Given the description of an element on the screen output the (x, y) to click on. 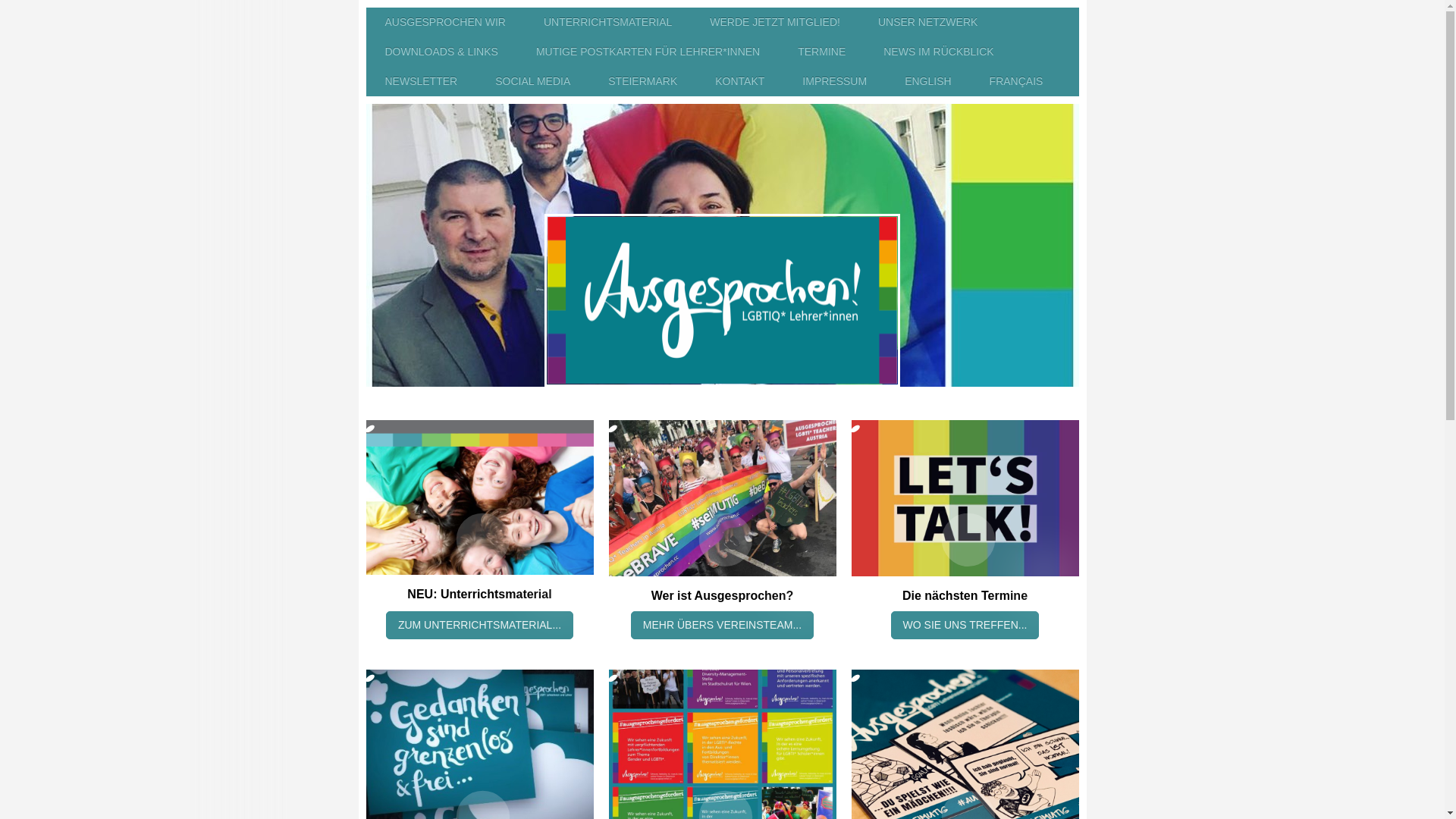
STEIERMARK Element type: text (642, 81)
UNTERRICHTSMATERIAL Element type: text (607, 22)
WO SIE UNS TREFFEN... Element type: text (965, 625)
WERDE JETZT MITGLIED! Element type: text (774, 22)
KONTAKT Element type: text (739, 81)
TERMINE Element type: text (821, 51)
DOWNLOADS & LINKS Element type: text (440, 51)
ZUM UNTERRICHTSMATERIAL... Element type: text (479, 625)
IMPRESSUM Element type: text (834, 81)
ENGLISH Element type: text (927, 81)
AUSGESPROCHEN WIR Element type: text (444, 22)
UNSER NETZWERK Element type: text (927, 22)
SOCIAL MEDIA Element type: text (532, 81)
NEWSLETTER Element type: text (420, 81)
